Given the description of an element on the screen output the (x, y) to click on. 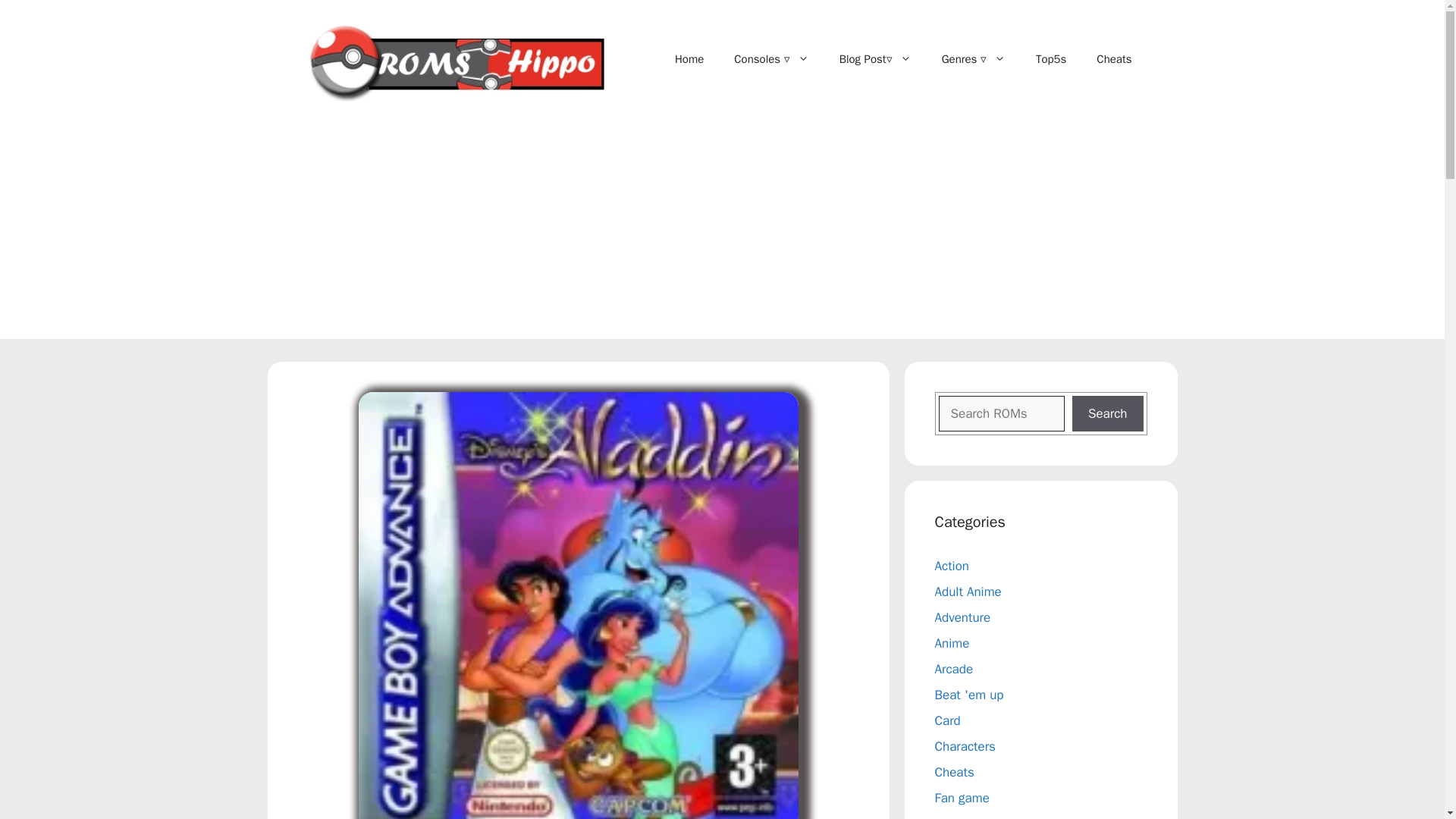
Home (689, 58)
Top5s (1050, 58)
